Given the description of an element on the screen output the (x, y) to click on. 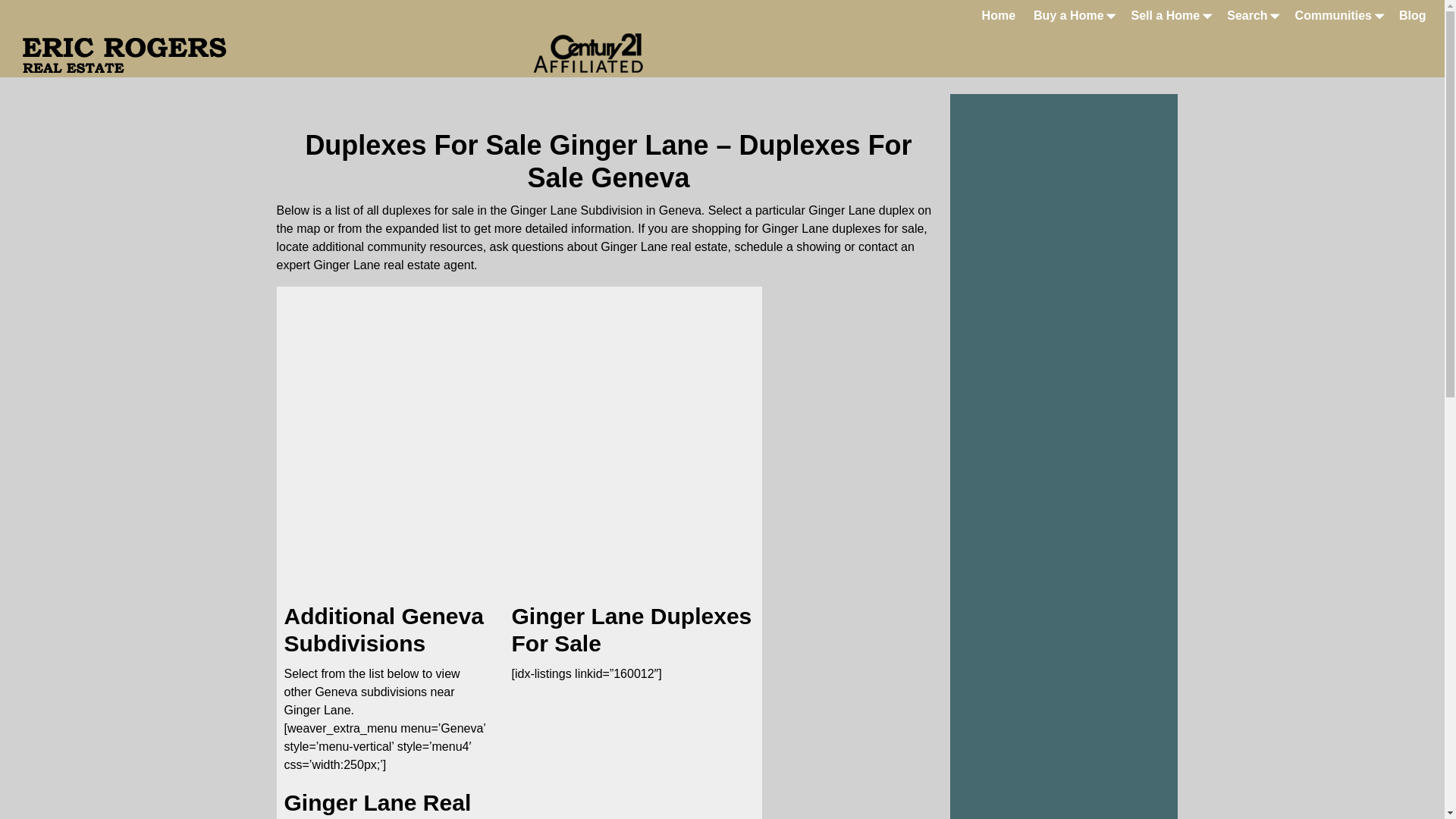
Blog (1412, 15)
Search (1251, 15)
Buy a Home Illinois (1073, 15)
Home (998, 15)
Sell a Home (1170, 15)
Illinois Communities (1337, 15)
Buy a Home (1073, 15)
Communities (1337, 15)
Sell a Home Illinois (1170, 15)
